Given the description of an element on the screen output the (x, y) to click on. 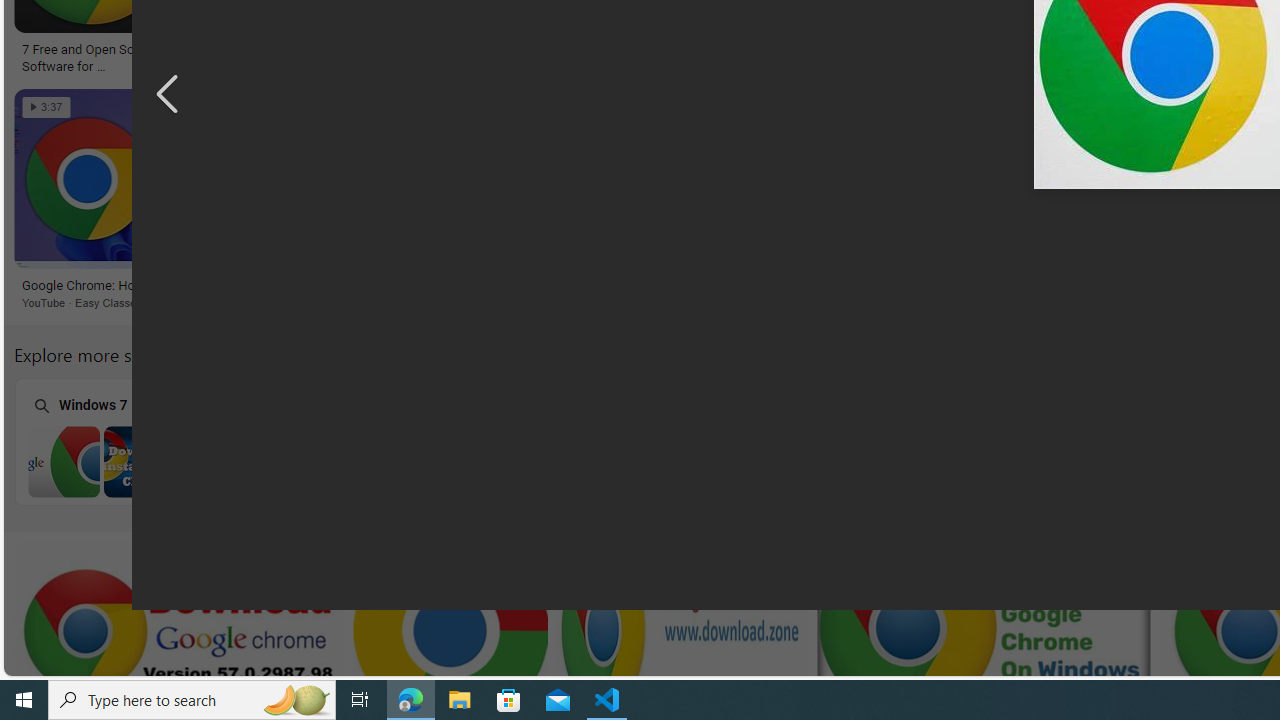
Google Chrome Download The Fast Secure Browser From Google (663, 56)
Windows 7 (138, 440)
All Categories - humanrewa (1061, 50)
Download Google Chrome As My Web Browser (494, 286)
7 Free and Open Source Software for Windows PC | HubPages (91, 56)
Download internet explorer 9.0 free - snorobot (817, 286)
Descargar Google Chrome Para Pc 2021 Windows 7810 (364, 50)
Descargar Google Chrome Para Pc 2021 Windows 7810 (345, 50)
